Given the description of an element on the screen output the (x, y) to click on. 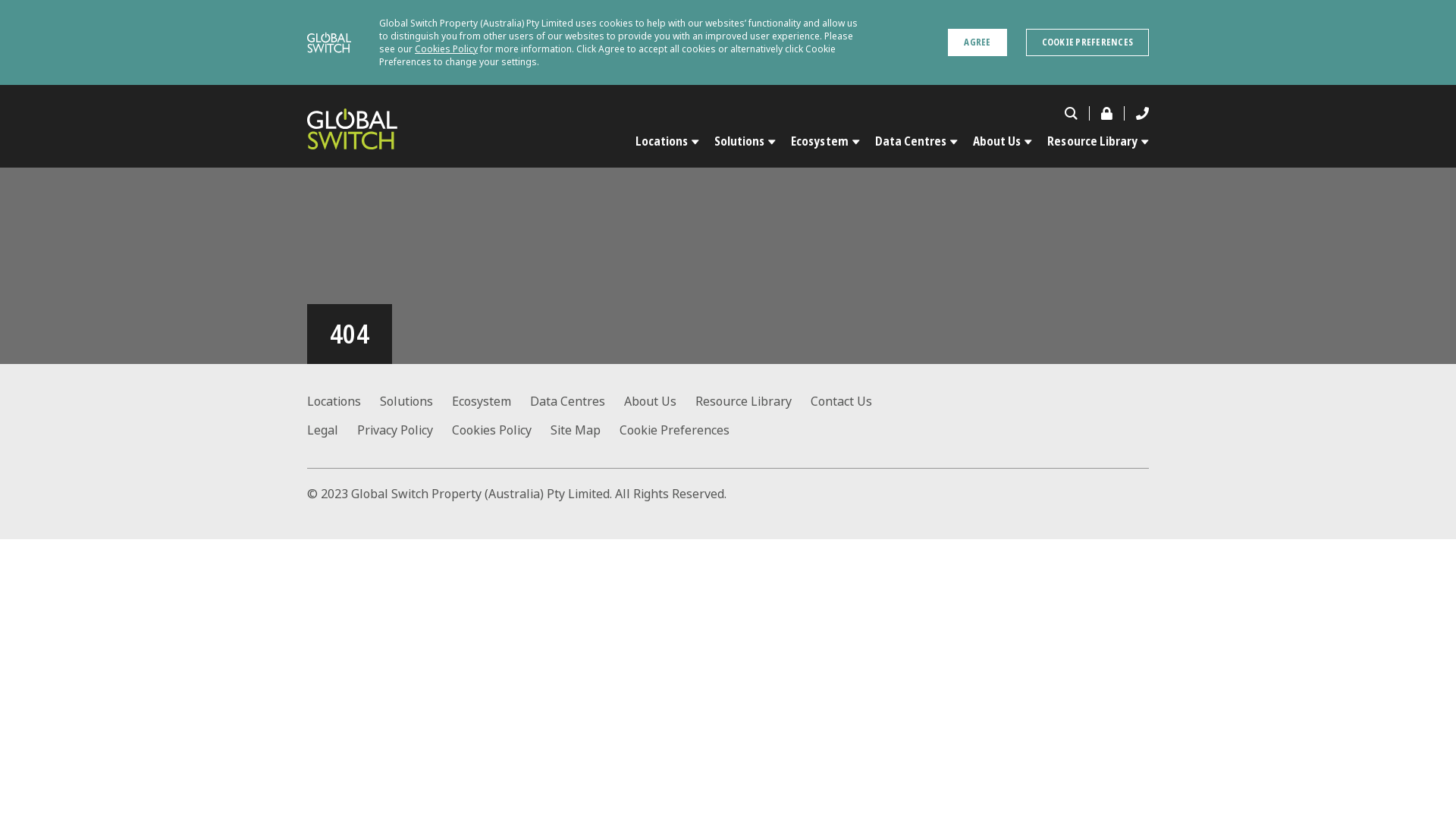
Legal Element type: text (332, 430)
Site Map Element type: text (584, 430)
Locations Element type: text (343, 401)
Solutions Element type: text (744, 136)
AGREE Element type: text (976, 42)
About Us Element type: text (659, 401)
Data Centres Element type: text (916, 136)
Resource Library Element type: text (752, 401)
Ecosystem Element type: text (824, 136)
Cookies Policy Element type: text (445, 48)
Cookies Policy Element type: text (500, 430)
Contact Us Element type: text (850, 401)
Cookie Preferences Element type: text (683, 430)
COOKIE PREFERENCES Element type: text (1087, 42)
Locations Element type: text (666, 136)
Solutions Element type: text (415, 401)
About Us Element type: text (1002, 136)
Resource Library Element type: text (1093, 136)
Privacy Policy Element type: text (404, 430)
Ecosystem Element type: text (490, 401)
Data Centres Element type: text (577, 401)
